Given the description of an element on the screen output the (x, y) to click on. 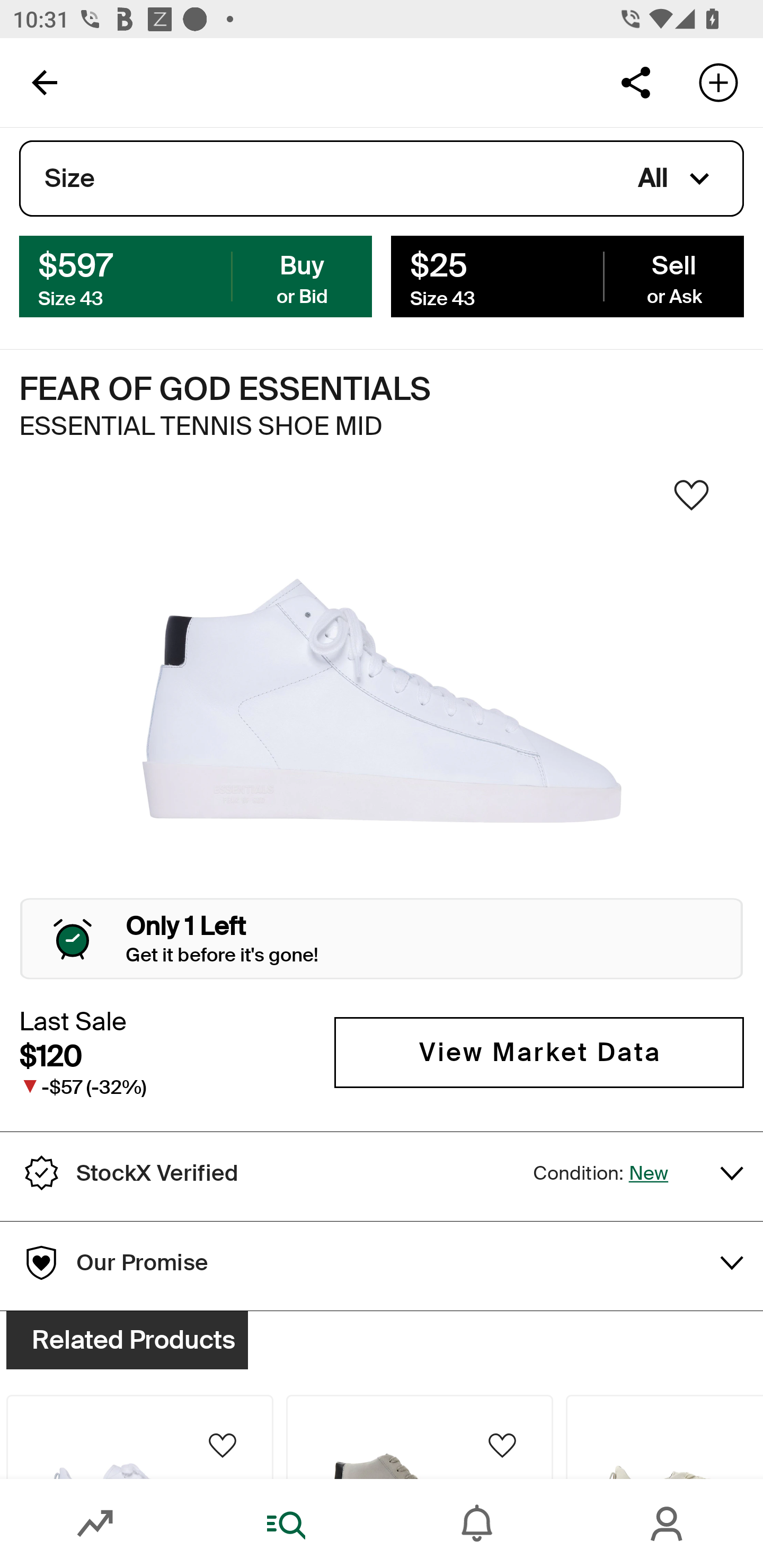
Share (635, 81)
Size All (381, 178)
$597 Buy Size 43 or Bid (195, 275)
$25 Sell Size 43 or Ask (566, 275)
Sneaker Image (381, 699)
View Market Data (538, 1052)
Market (95, 1523)
Inbox (476, 1523)
Account (667, 1523)
